Given the description of an element on the screen output the (x, y) to click on. 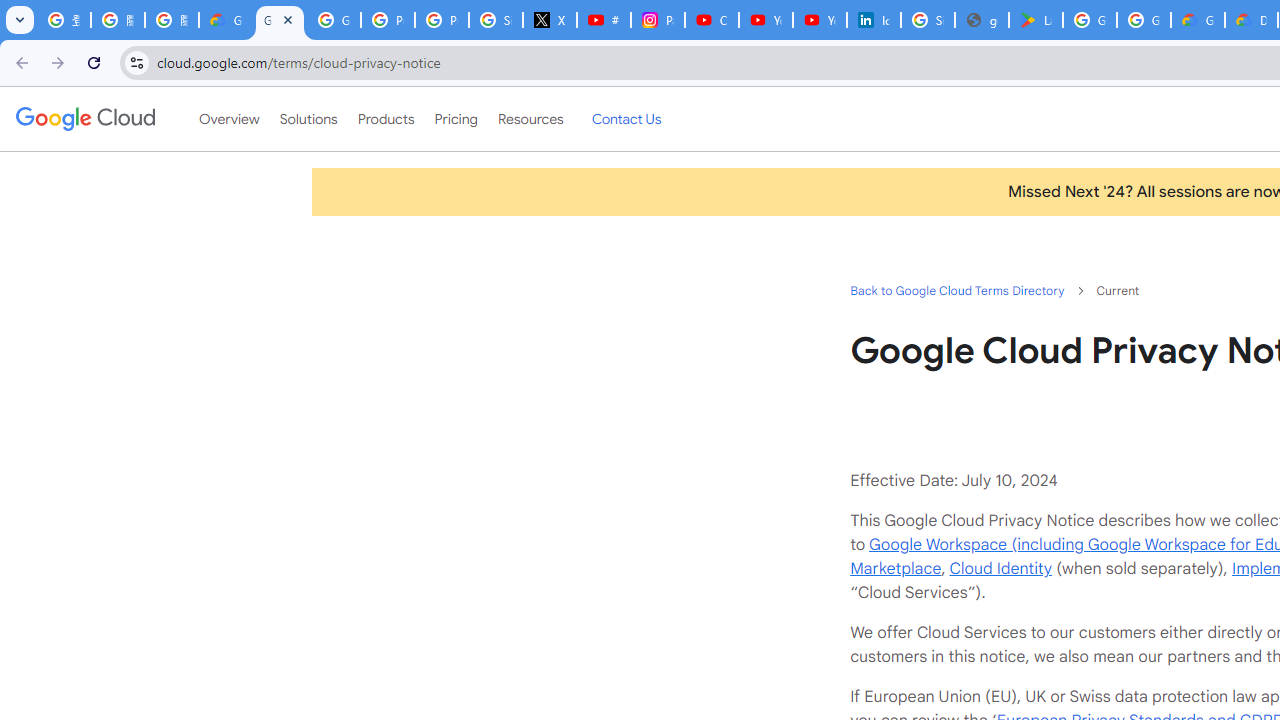
Last Shelter: Survival - Apps on Google Play (1035, 20)
Resources (530, 119)
Contact Us (626, 119)
Privacy Help Center - Policies Help (441, 20)
